Given the description of an element on the screen output the (x, y) to click on. 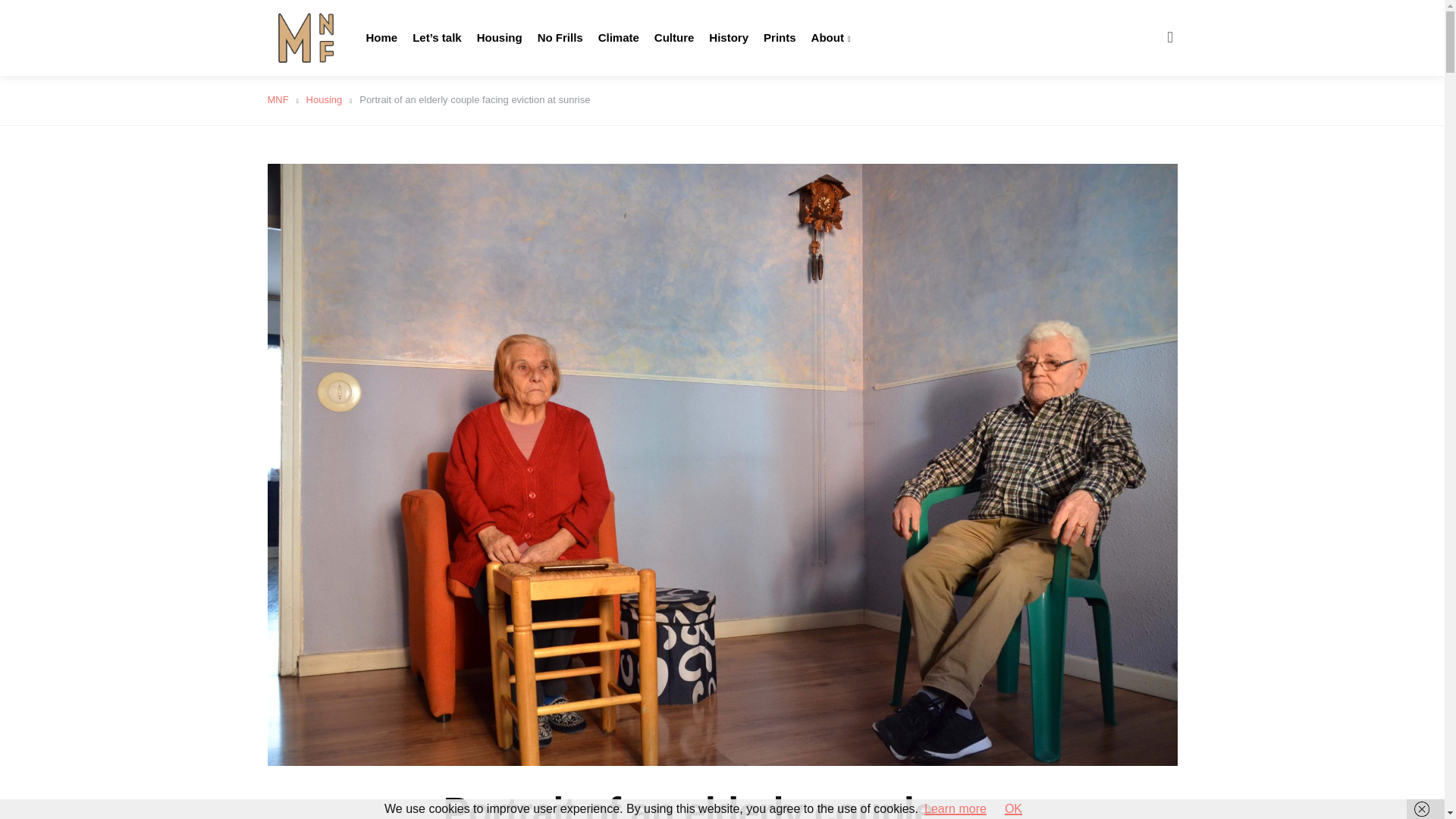
Home (381, 37)
Climate (618, 37)
Culture (673, 37)
About (830, 37)
MNF (277, 99)
History (728, 37)
Go to MNF. (277, 99)
Prints (779, 37)
Housing (323, 99)
Housing (499, 37)
No Frills (560, 37)
Go to the Housing Category archives. (323, 99)
